Given the description of an element on the screen output the (x, y) to click on. 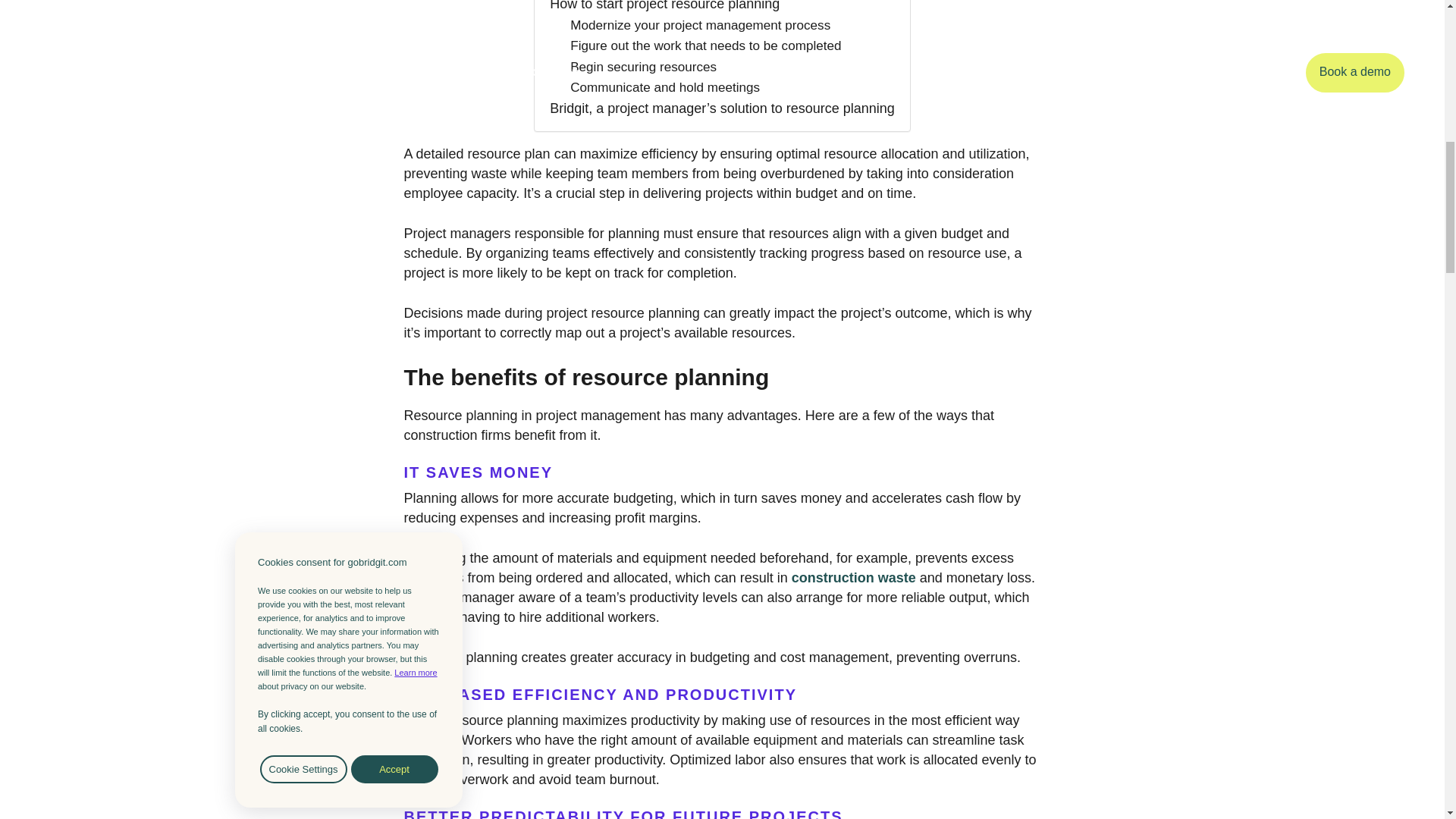
Communicate and hold meetings (665, 86)
Begin securing resources (643, 66)
Figure out the work that needs to be completed (705, 46)
Modernize your project management process (699, 25)
How to start project resource planning (664, 7)
construction waste (853, 577)
